Given the description of an element on the screen output the (x, y) to click on. 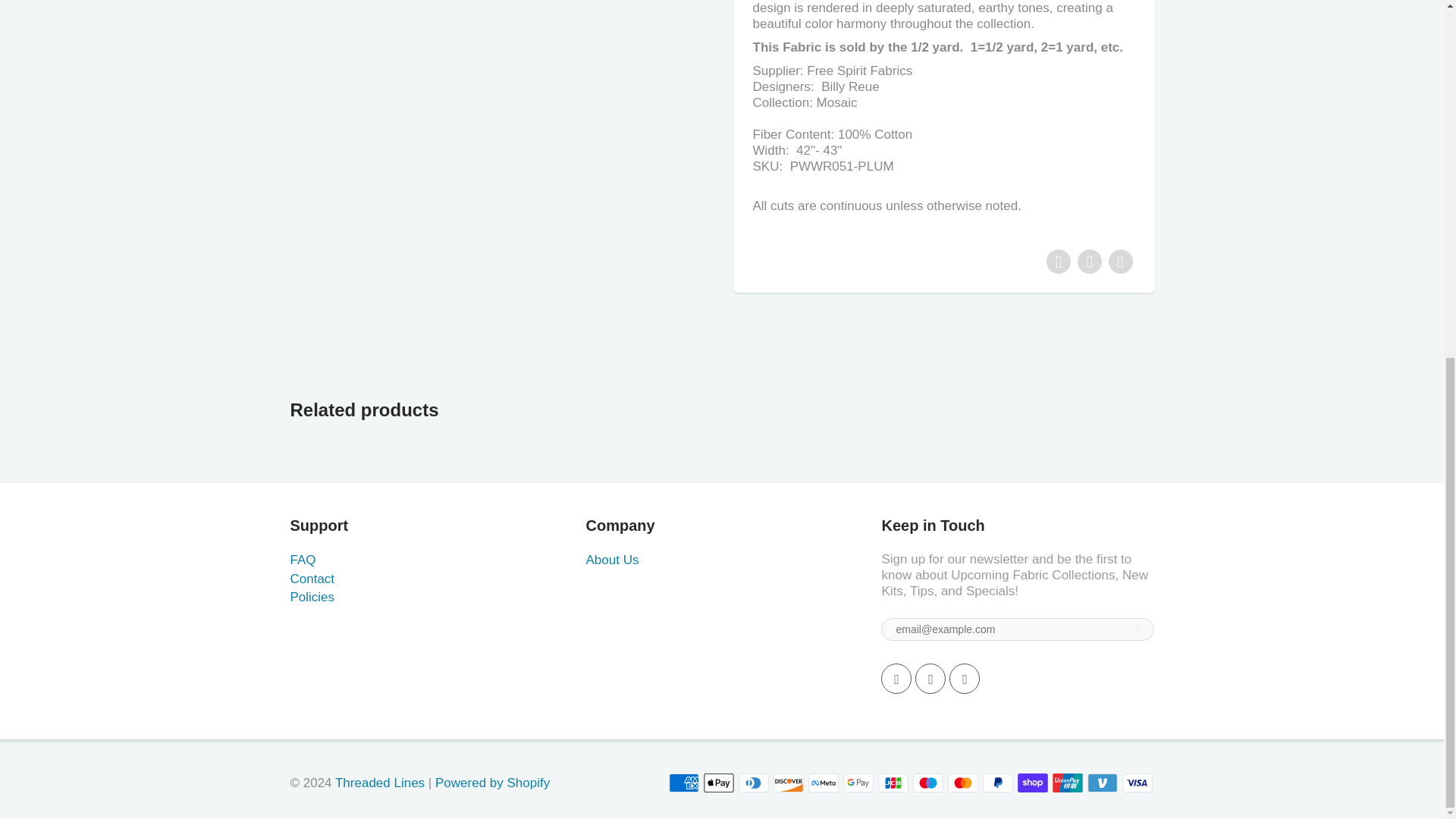
American Express (683, 782)
Maestro (927, 782)
PayPal (997, 782)
Shop Pay (1032, 782)
Mastercard (962, 782)
Facebook (895, 678)
Instagram (964, 678)
Google Pay (858, 782)
Pinterest (929, 678)
Venmo (1102, 782)
